Given the description of an element on the screen output the (x, y) to click on. 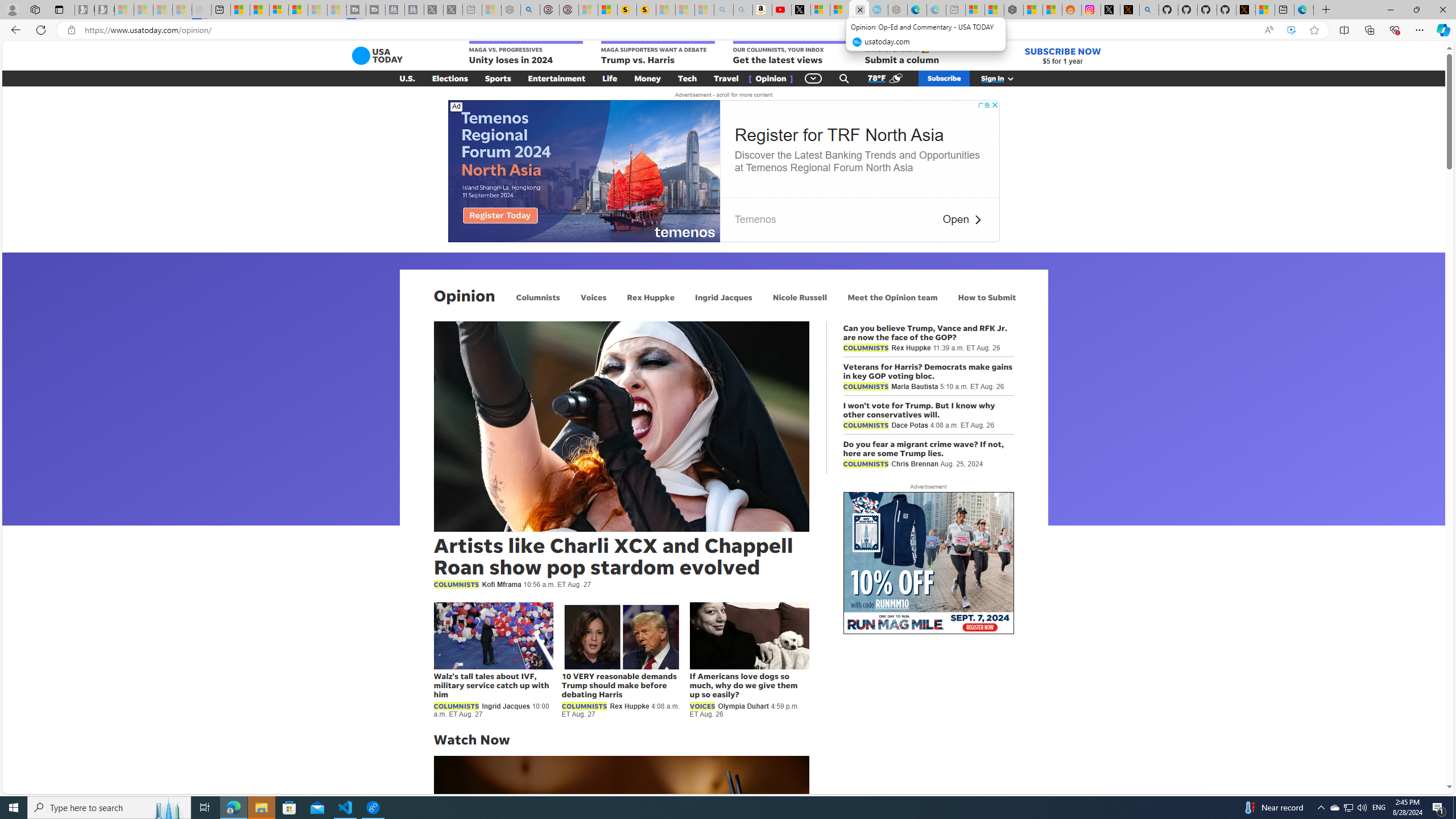
Restore (1416, 9)
Register for TRF North Asia (838, 134)
Wildlife - MSN - Sleeping (491, 9)
Nordace - Summer Adventures 2024 - Sleeping (510, 9)
USA TODAY (376, 55)
Opinion: Op-Ed and Commentary - USA TODAY (858, 9)
Refresh (40, 29)
Travel (725, 78)
Read aloud this page (Ctrl+Shift+U) (1268, 29)
Elections (449, 78)
